Given the description of an element on the screen output the (x, y) to click on. 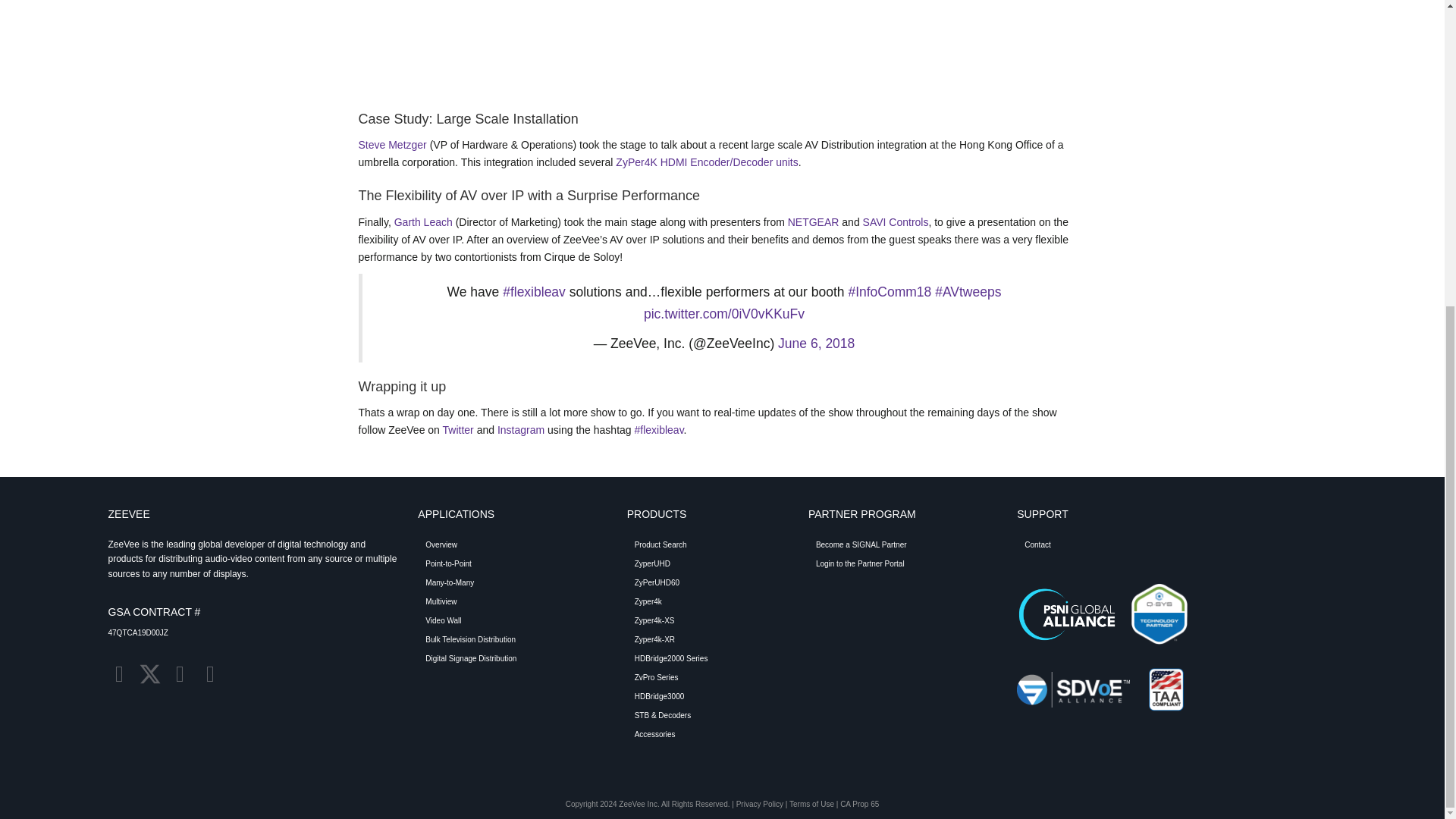
Instagram (179, 673)
LinkedIn (119, 673)
ZEEVEE (128, 513)
Email (209, 673)
